Given the description of an element on the screen output the (x, y) to click on. 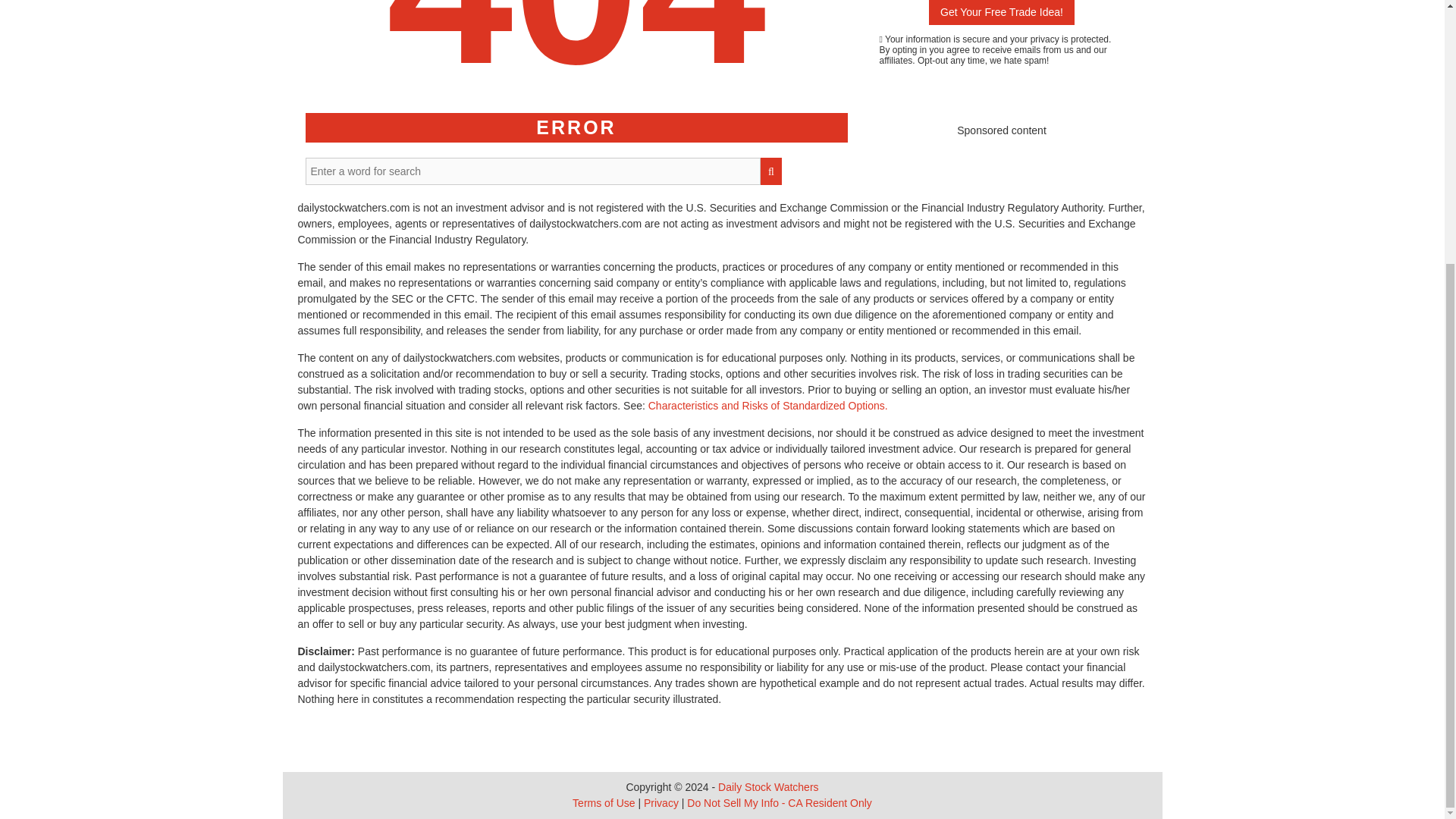
Do Not Sell My Info - CA Resident Only (779, 802)
Daily Stock Watchers (767, 787)
Terms of Use (603, 802)
Privacy (660, 802)
Characteristics and Risks of Standardized Options. (767, 405)
Get Your Free Trade Idea! (1001, 12)
